Given the description of an element on the screen output the (x, y) to click on. 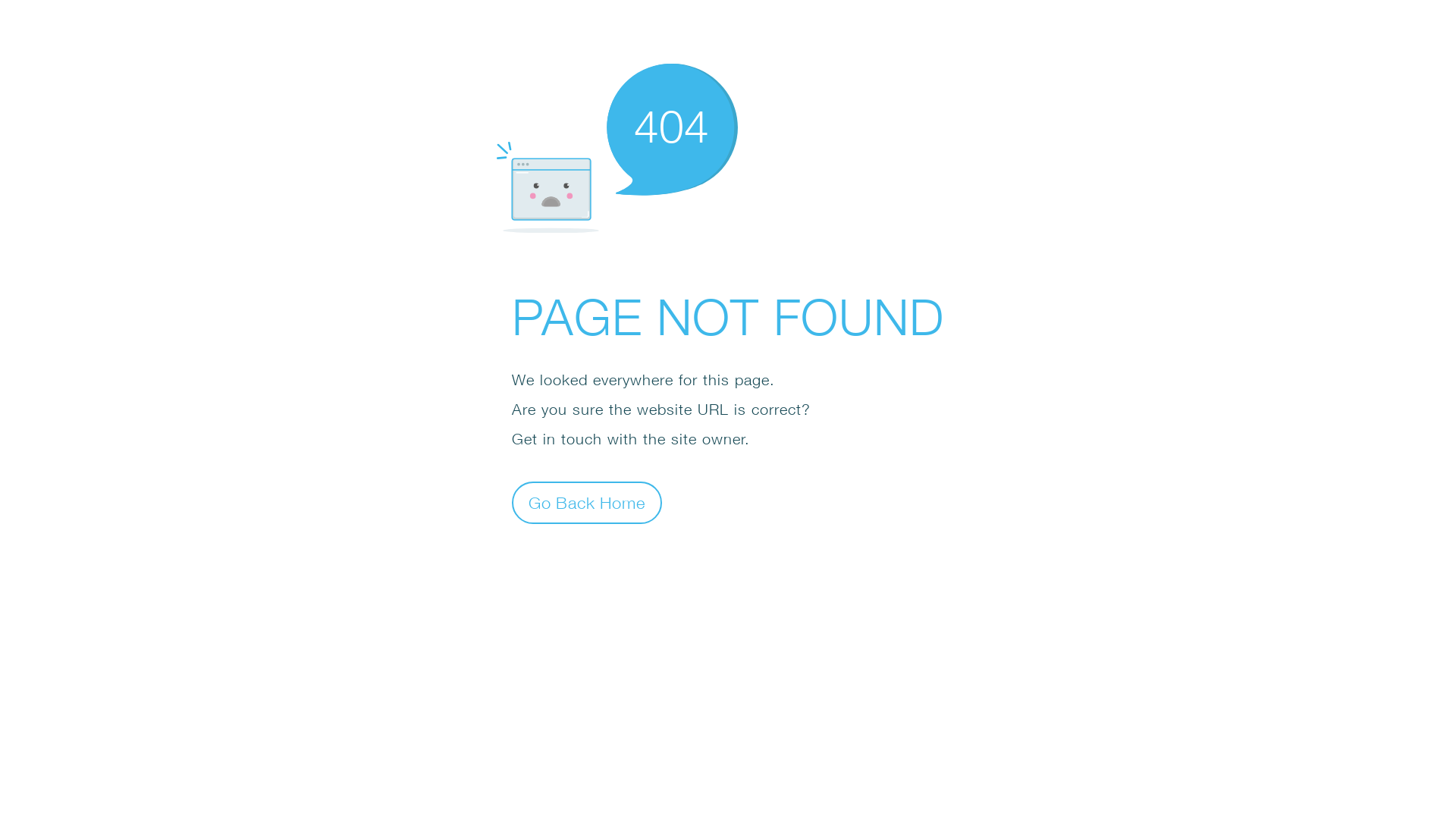
Go Back Home Element type: text (586, 502)
